Given the description of an element on the screen output the (x, y) to click on. 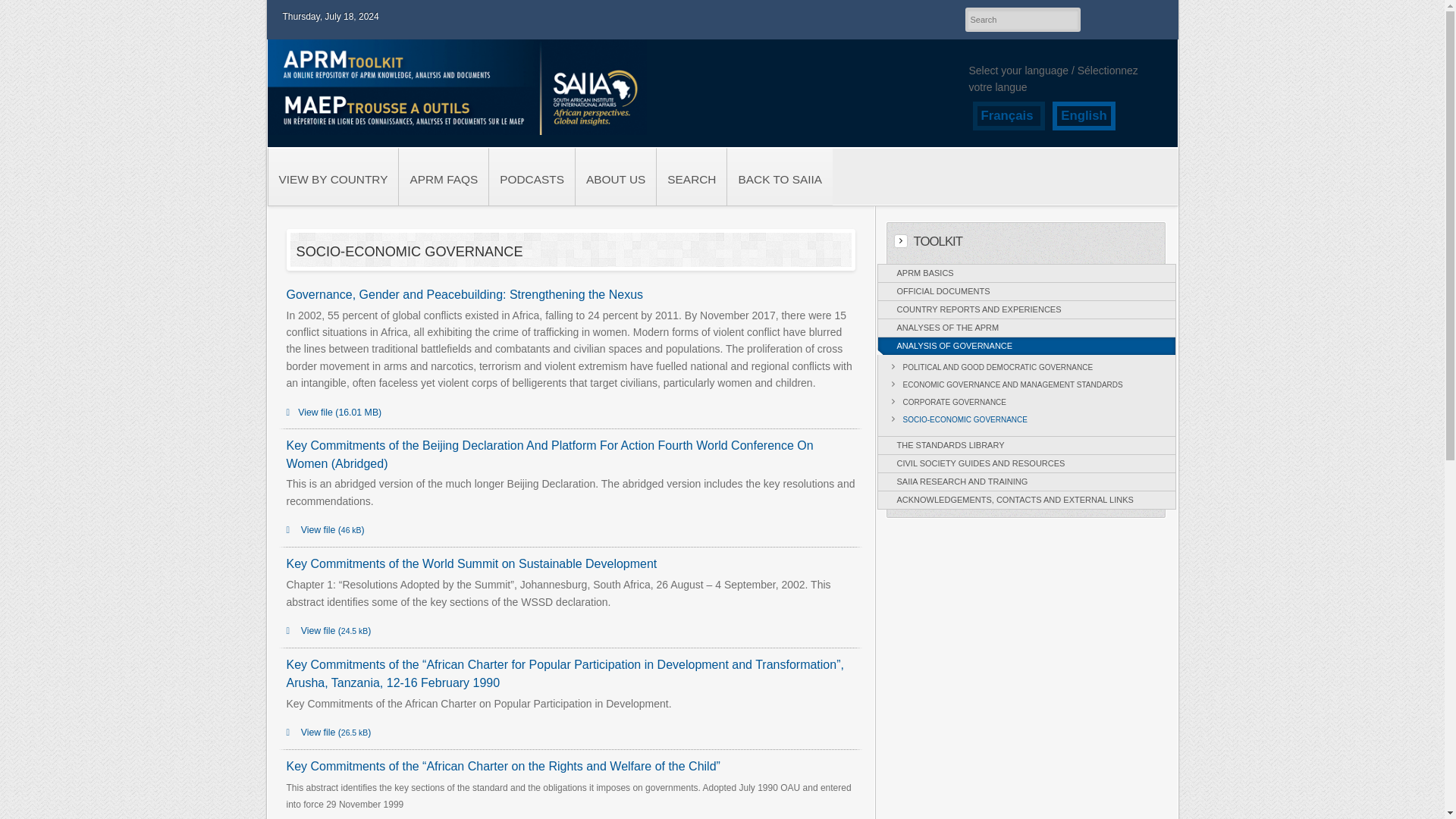
POLITICAL AND GOOD DEMOCRATIC GOVERNANCE (1031, 366)
SAIIA RESEARCH AND TRAINING (1025, 481)
SEARCH (691, 176)
ANALYSES OF THE APRM (1025, 327)
THE STANDARDS LIBRARY (1025, 445)
English (1083, 115)
ANALYSIS OF GOVERNANCE (1025, 345)
APRM BASICS (1025, 272)
PODCASTS (531, 176)
CIVIL SOCIETY GUIDES AND RESOURCES (1025, 463)
ABOUT US (615, 176)
VIEW BY COUNTRY (331, 176)
ECONOMIC GOVERNANCE AND MANAGEMENT STANDARDS (1031, 384)
CORPORATE GOVERNANCE (1031, 402)
